Given the description of an element on the screen output the (x, y) to click on. 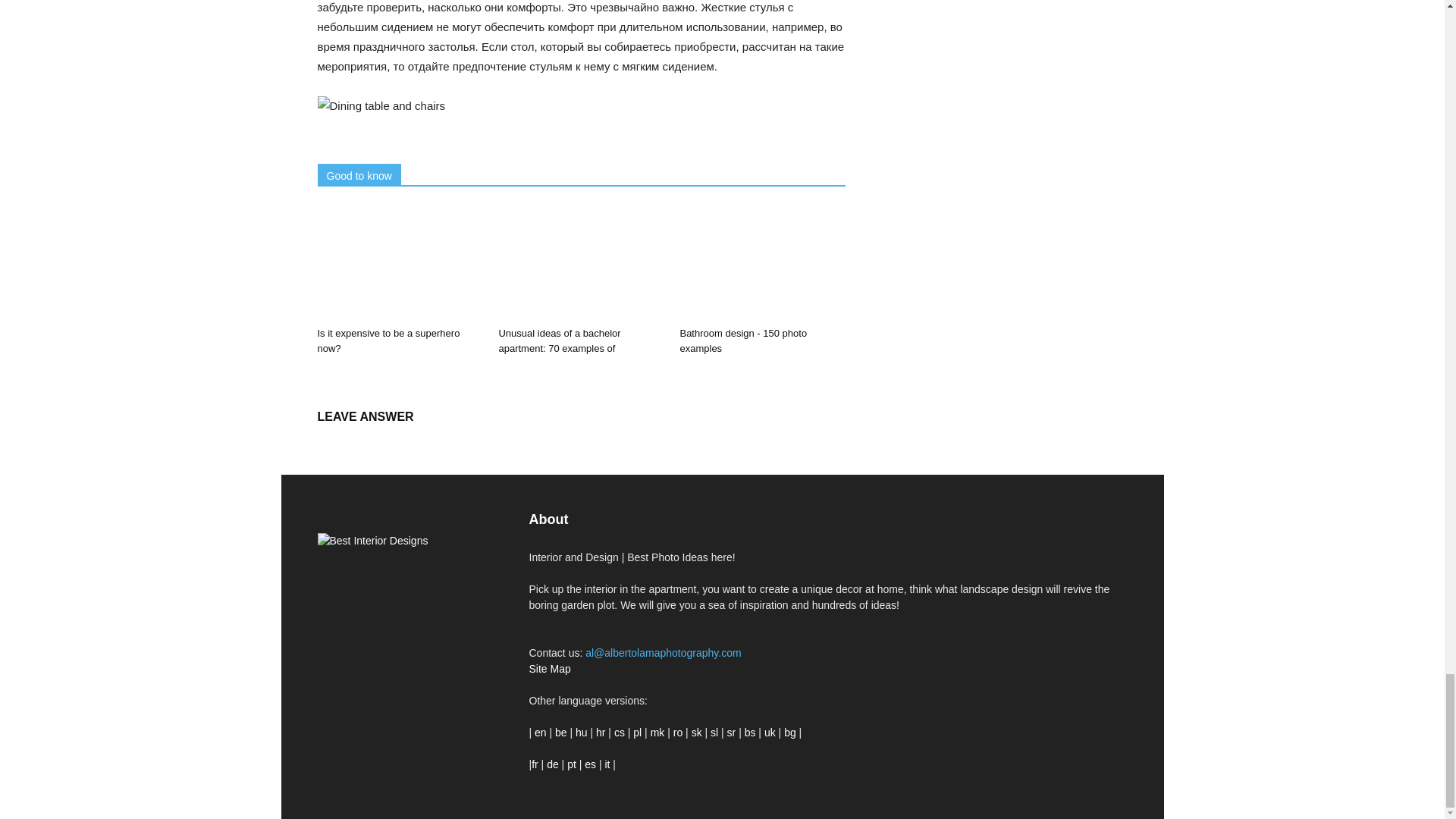
Is it expensive to be a superhero now? (399, 264)
Unusual ideas of a bachelor apartment: 70 examples of (580, 264)
Dining table and chairs (580, 106)
Is it expensive to be a superhero now? (388, 340)
